Given the description of an element on the screen output the (x, y) to click on. 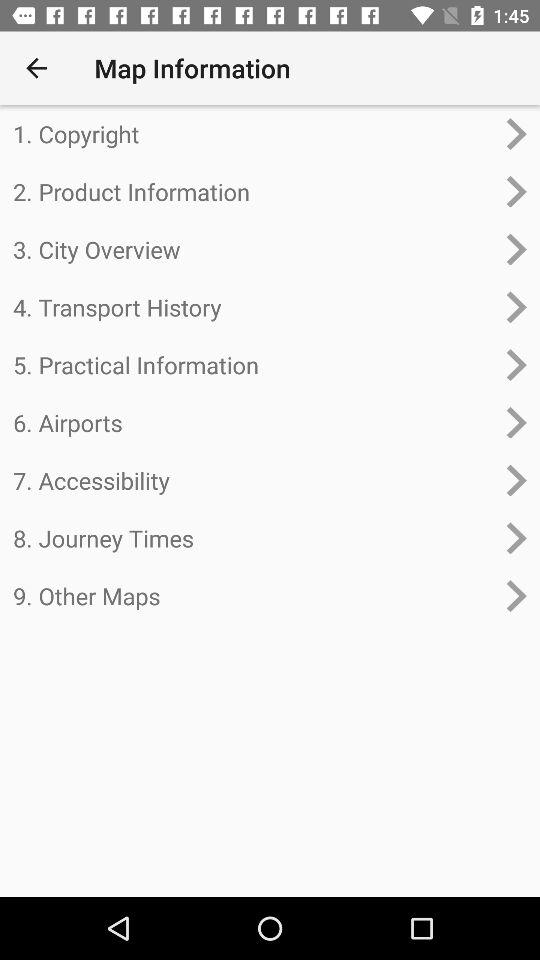
jump until the 2. product information icon (253, 191)
